Given the description of an element on the screen output the (x, y) to click on. 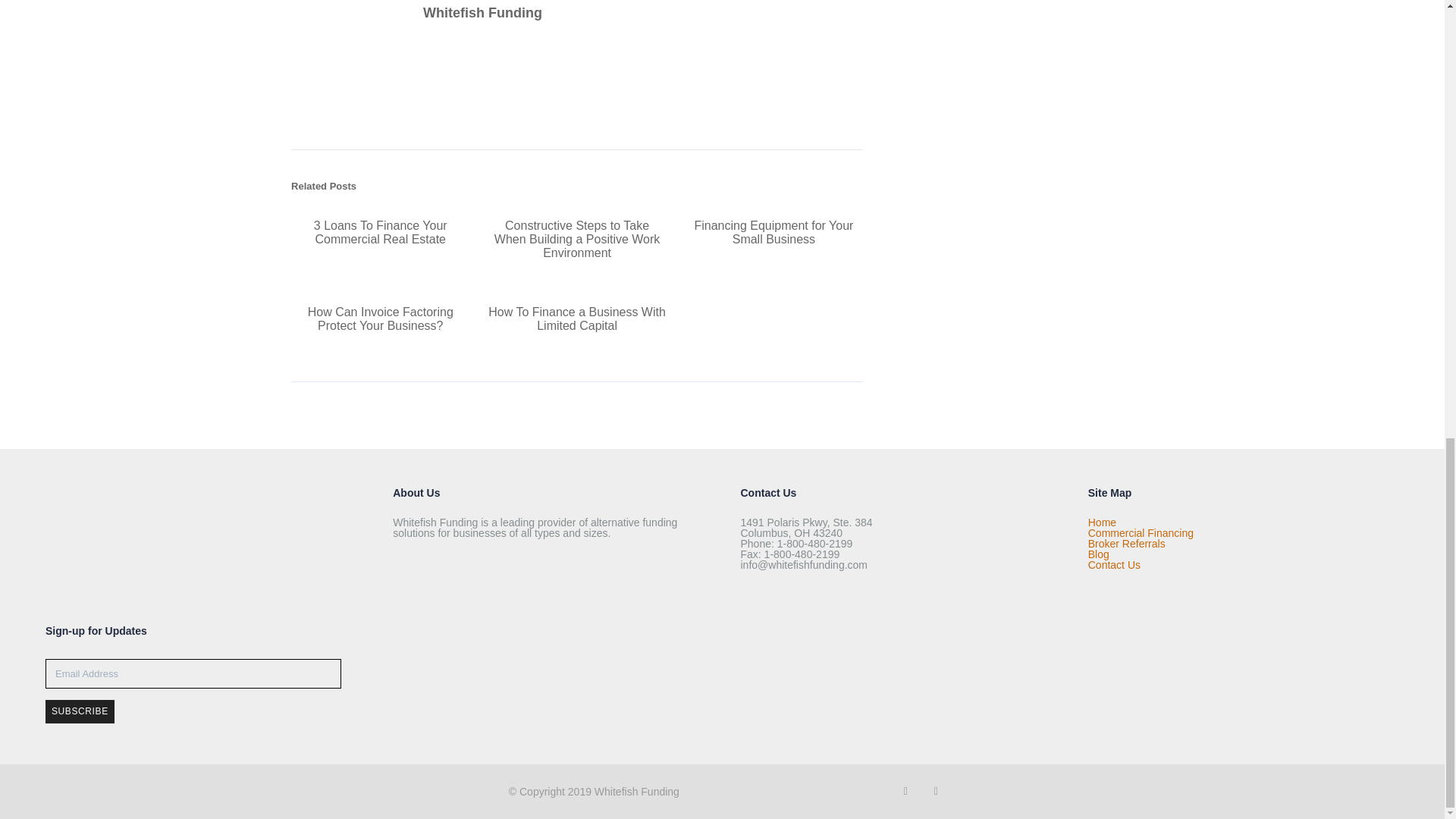
Subscribe (80, 711)
Posts by Whitefish Funding (482, 12)
